Given the description of an element on the screen output the (x, y) to click on. 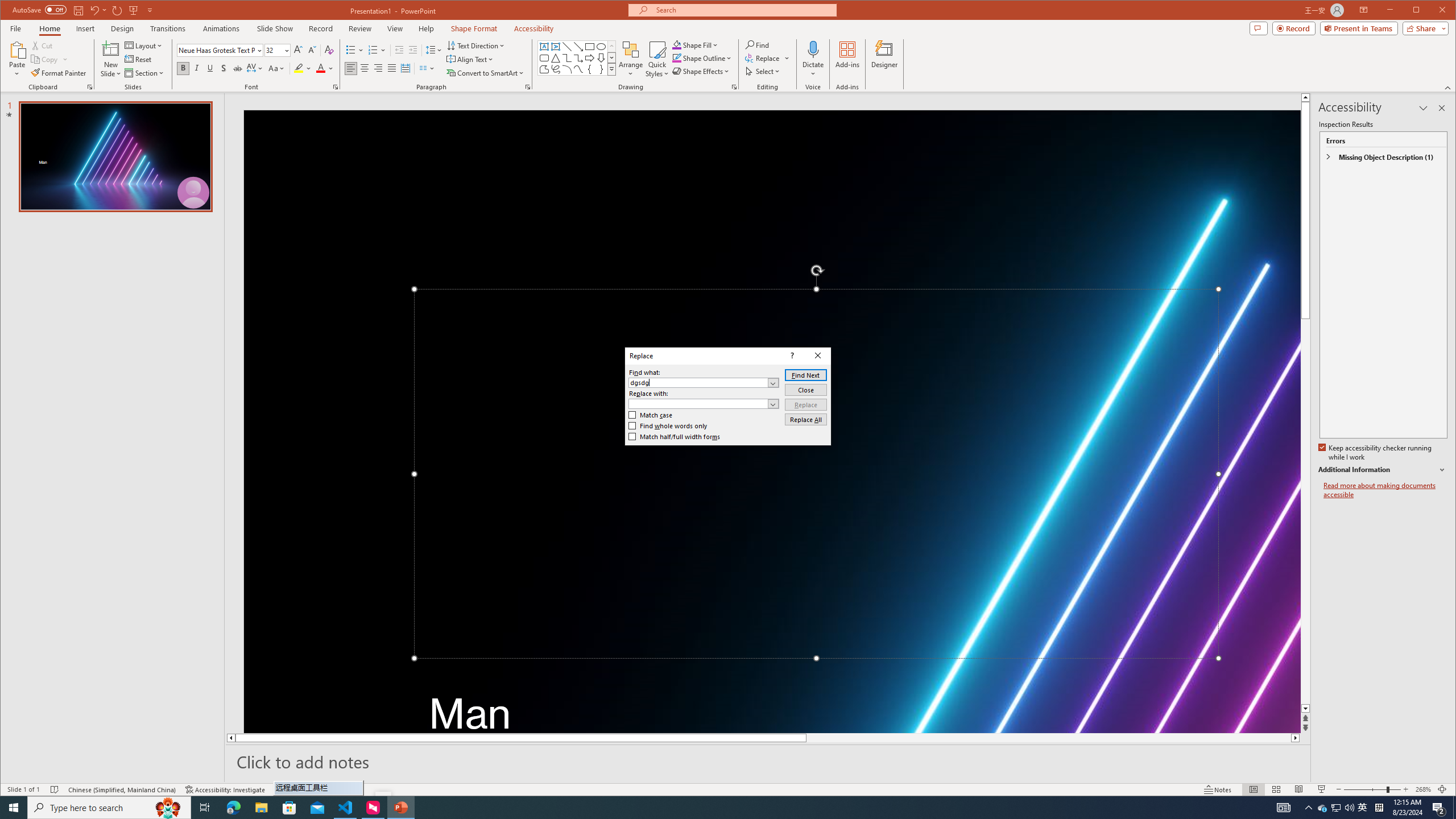
Maximize (1432, 11)
